Given the description of an element on the screen output the (x, y) to click on. 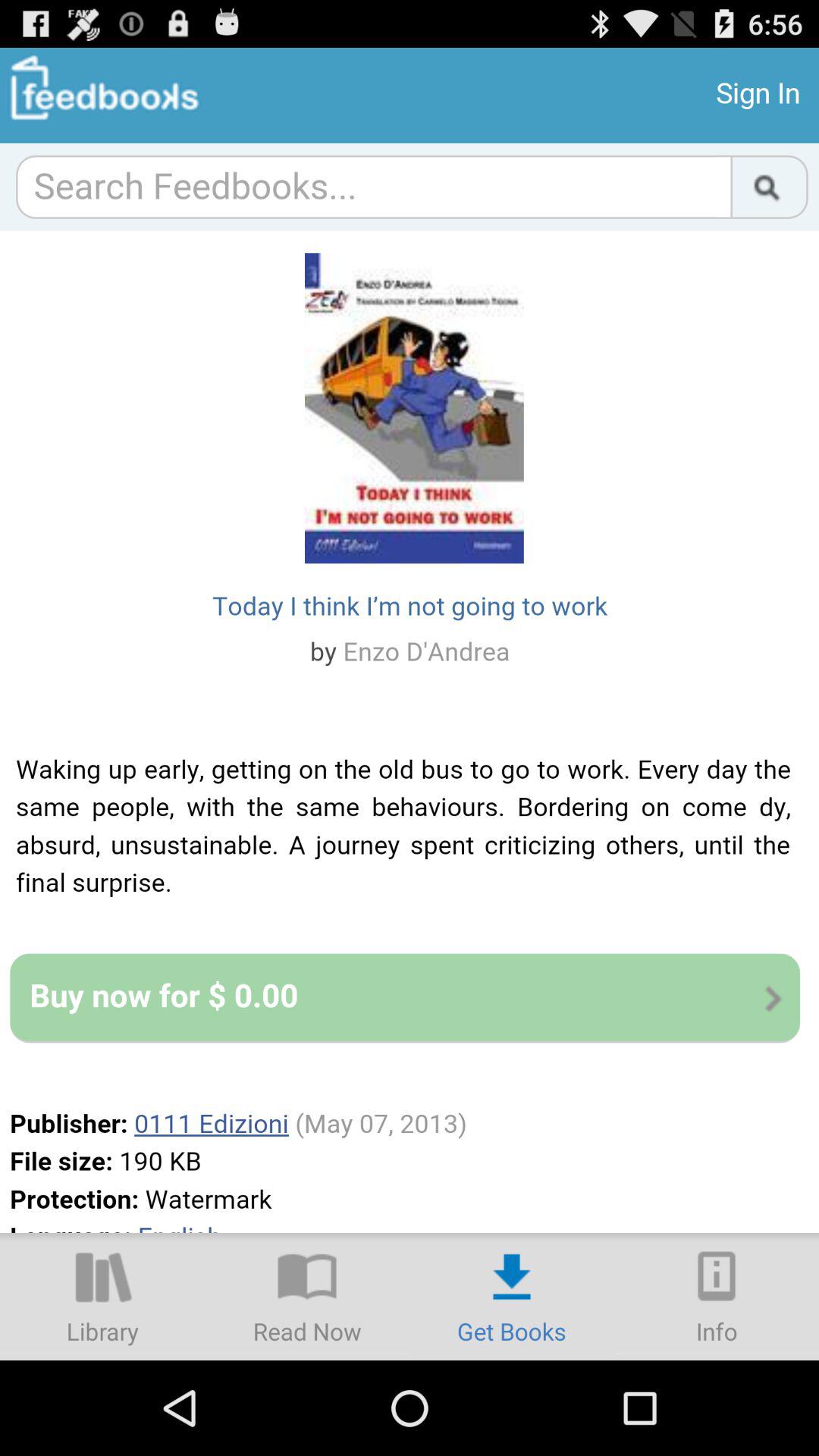
more details (716, 1296)
